Given the description of an element on the screen output the (x, y) to click on. 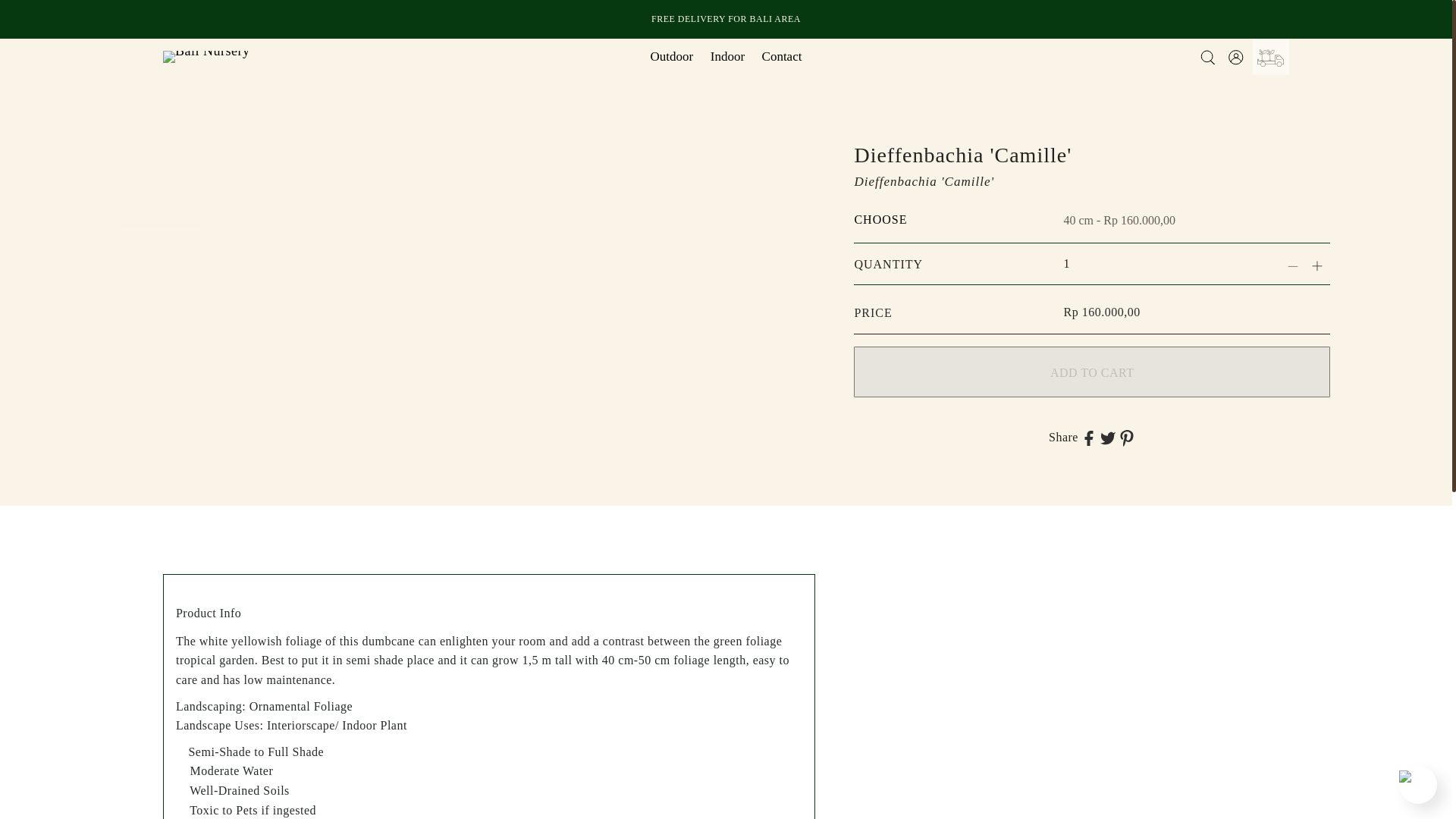
ADD TO CART (1091, 371)
Outdoor (671, 56)
Indoor (727, 56)
1 (1135, 263)
Contact (782, 56)
